Given the description of an element on the screen output the (x, y) to click on. 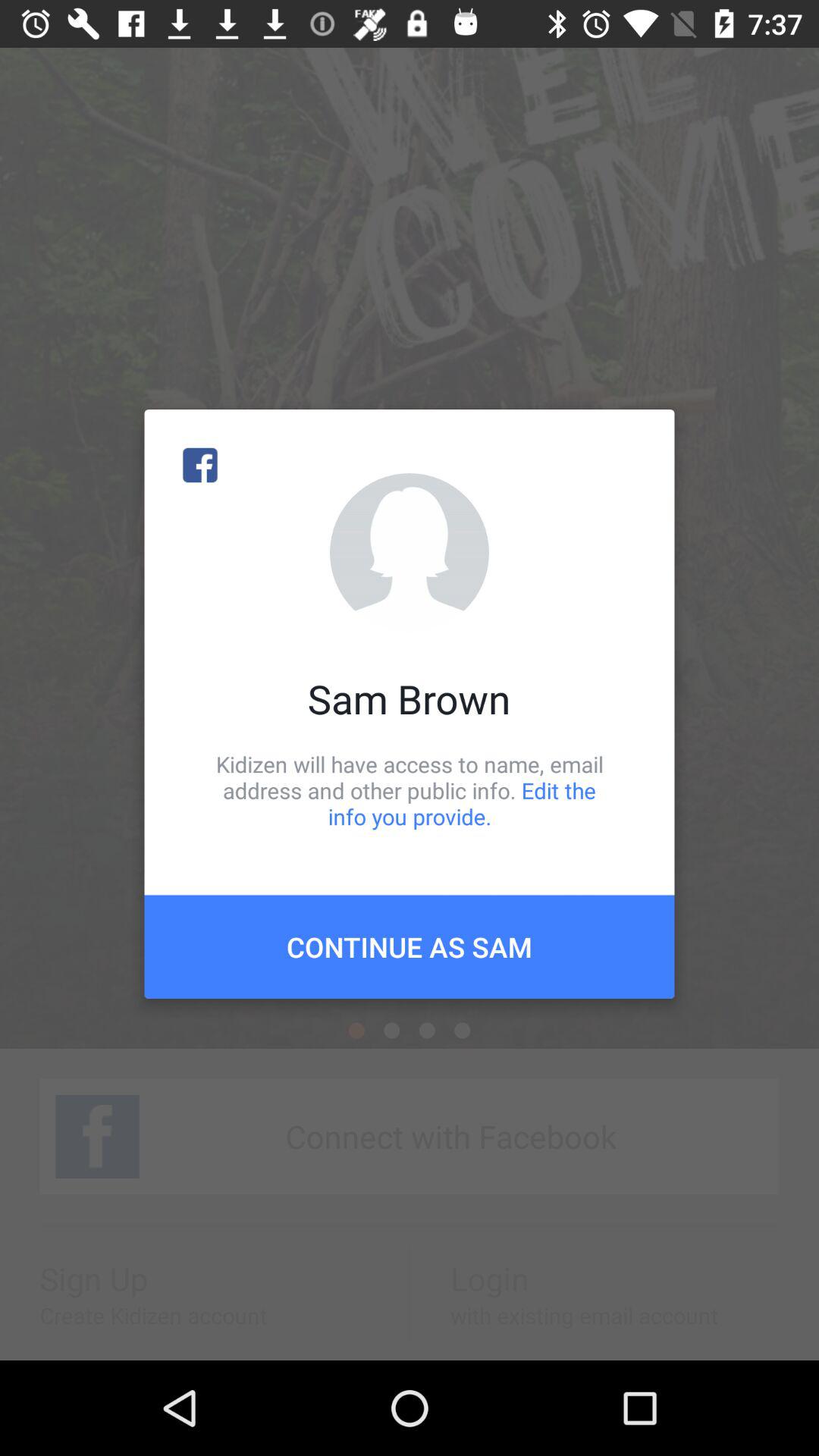
click icon below the sam brown item (409, 790)
